Given the description of an element on the screen output the (x, y) to click on. 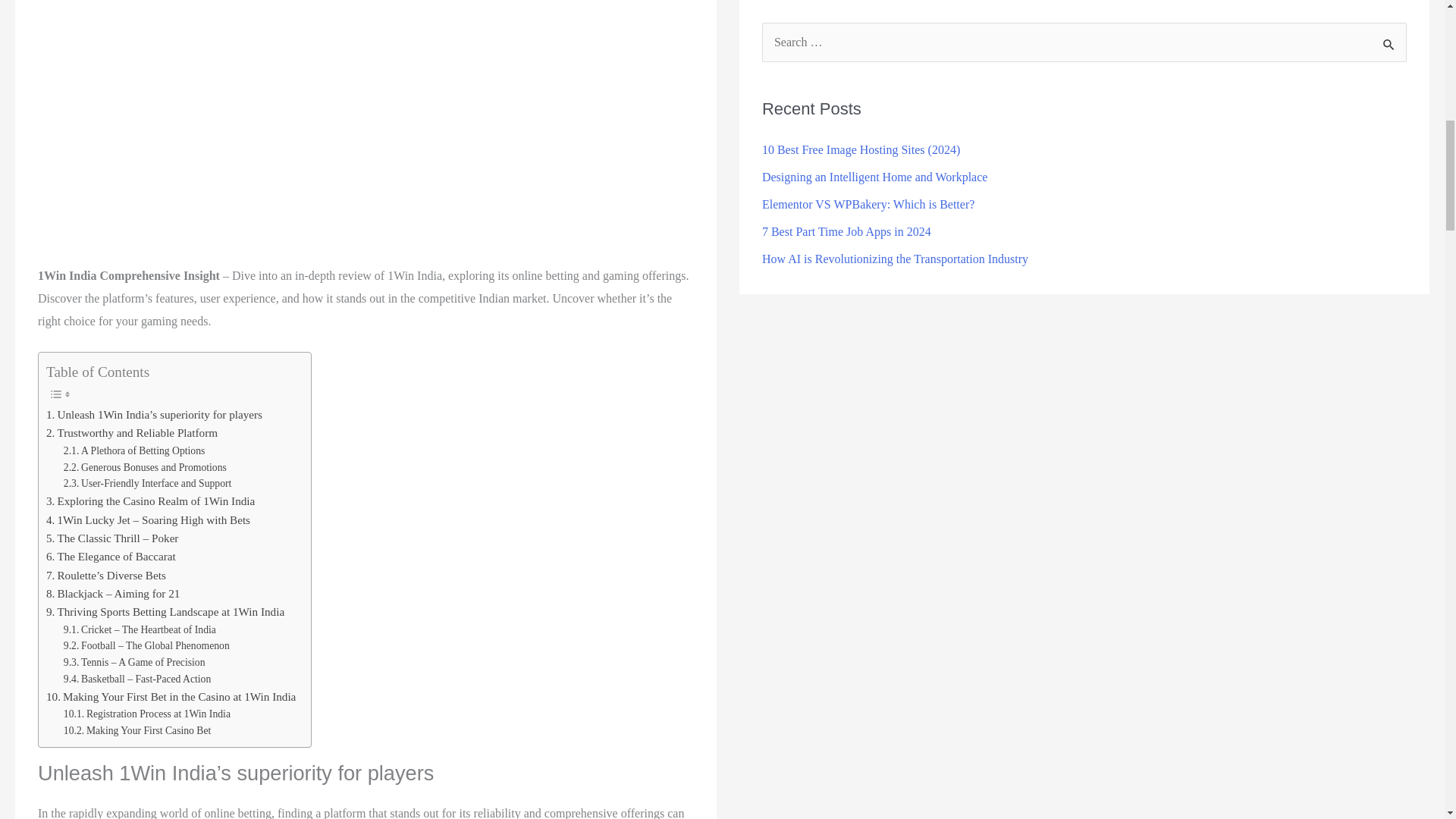
A Plethora of Betting Options (134, 451)
Exploring the Casino Realm of 1Win India (150, 501)
Generous Bonuses and Promotions (145, 467)
The Elegance of Baccarat (111, 556)
Trustworthy and Reliable Platform (131, 433)
User-Friendly Interface and Support (147, 483)
